Given the description of an element on the screen output the (x, y) to click on. 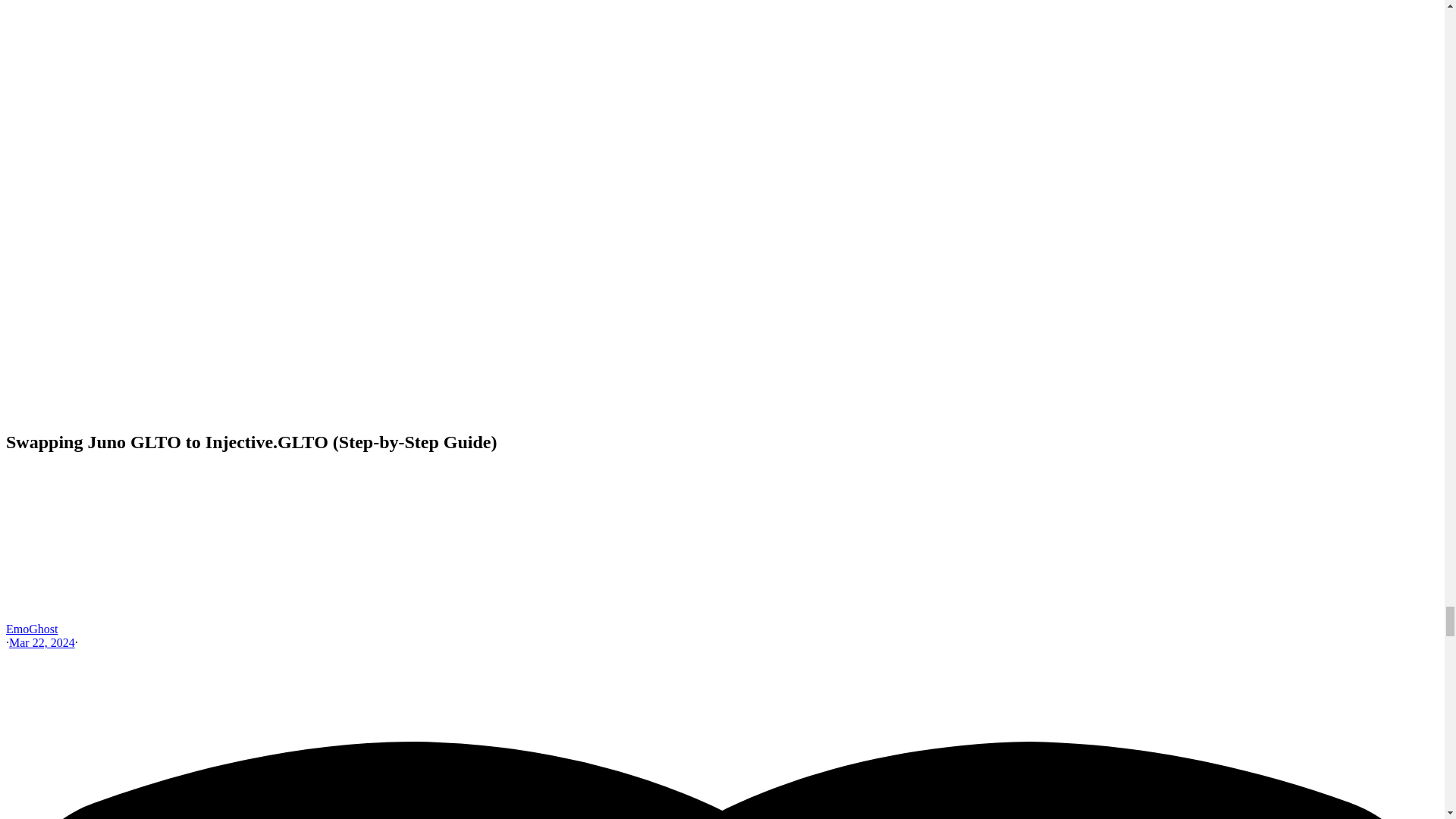
EmoGhost (31, 628)
Mar 22, 2024 (41, 642)
